Given the description of an element on the screen output the (x, y) to click on. 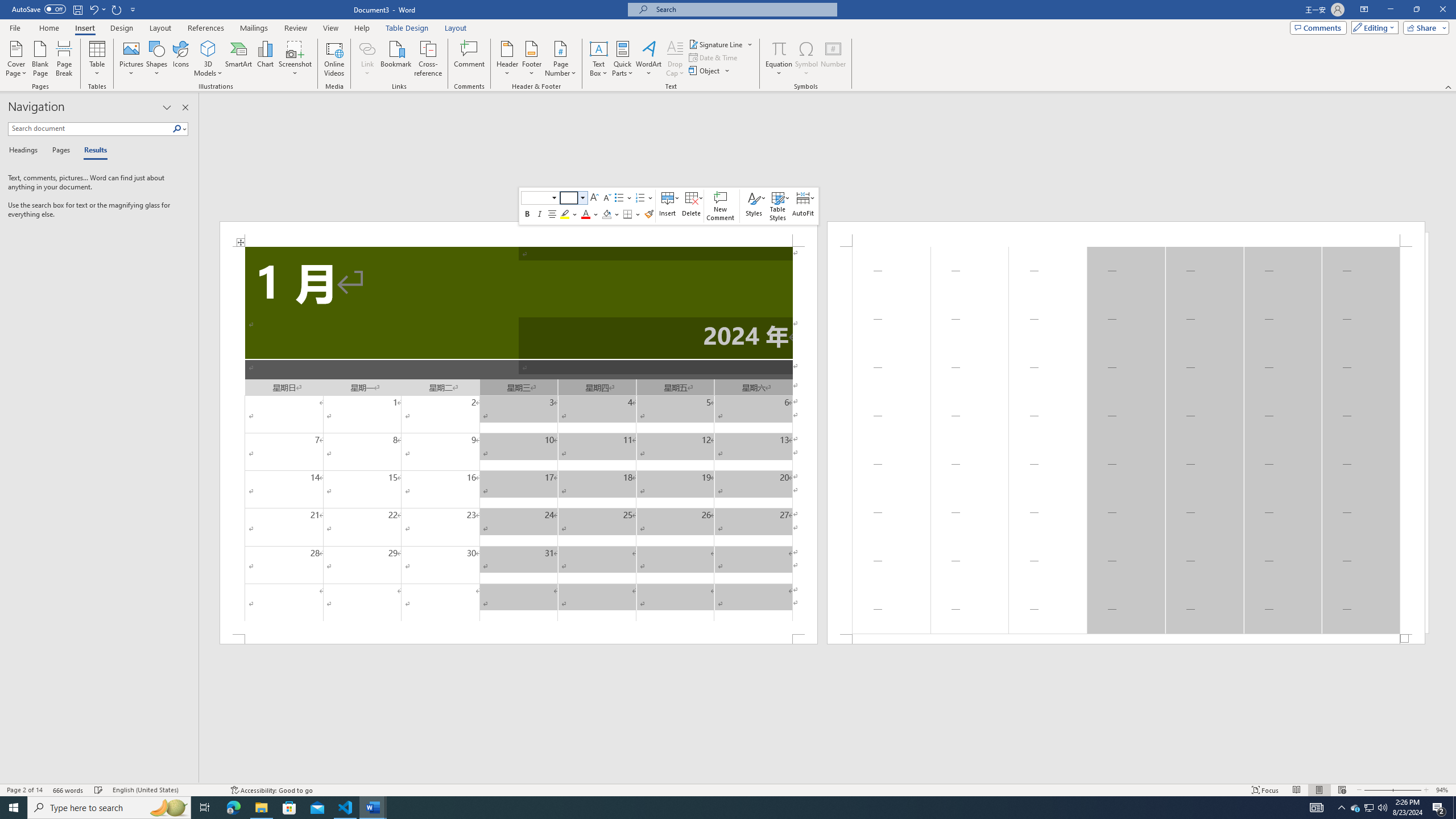
Delete (691, 205)
Screenshot (295, 58)
Class: NetUIAnchor (803, 205)
Task View (204, 807)
Comment (469, 58)
Notification Chevron (1341, 807)
Action Center, 2 new notifications (1439, 807)
